Given the description of an element on the screen output the (x, y) to click on. 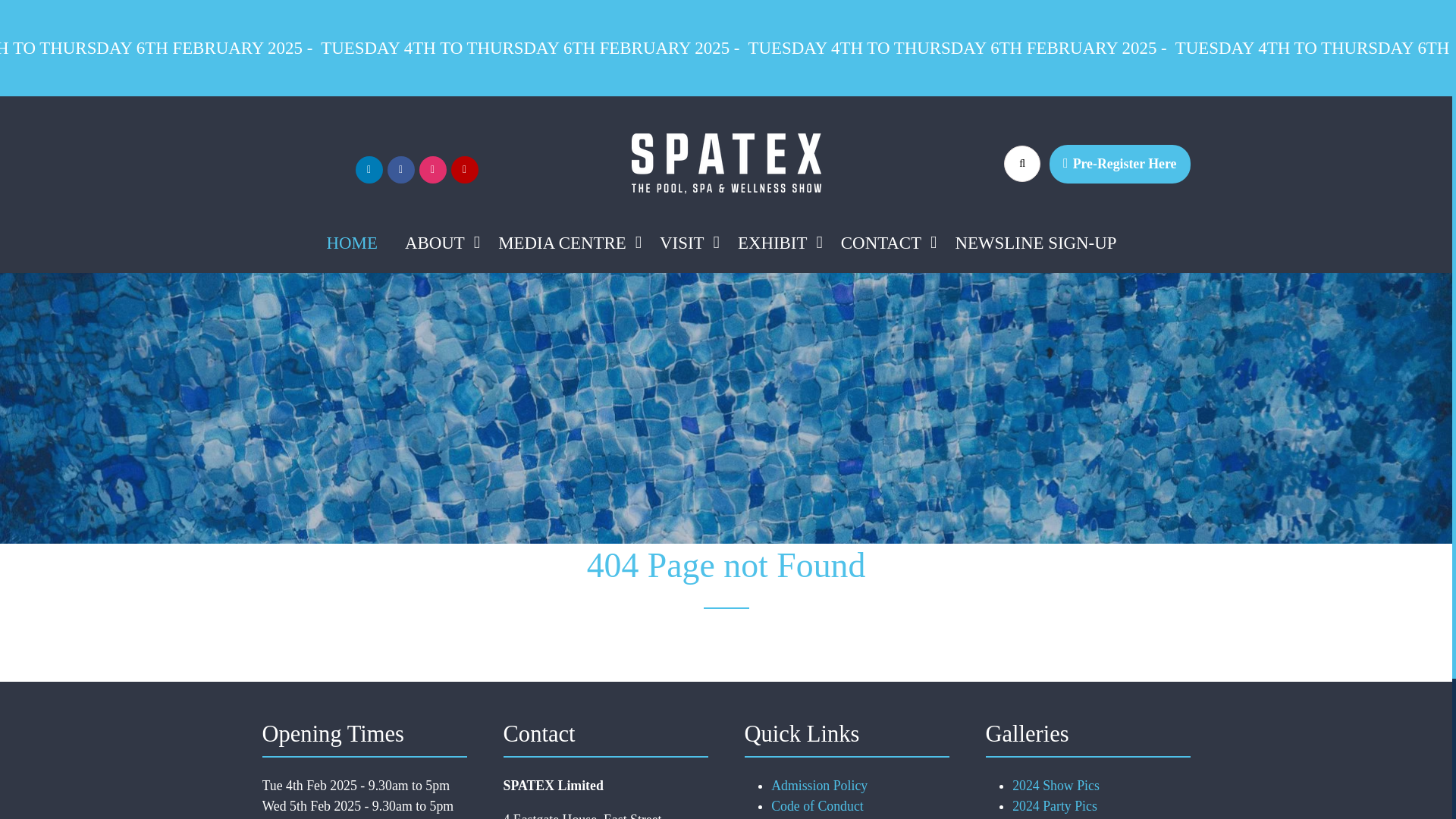
HOME (352, 242)
Media Centre (565, 242)
Visit (684, 242)
Pre-Register Here (1119, 163)
Youtube (463, 169)
CONTACT (880, 242)
Home (352, 242)
NEWSLINE SIGN-UP (1034, 242)
About (438, 242)
LinkedIn (368, 169)
